Given the description of an element on the screen output the (x, y) to click on. 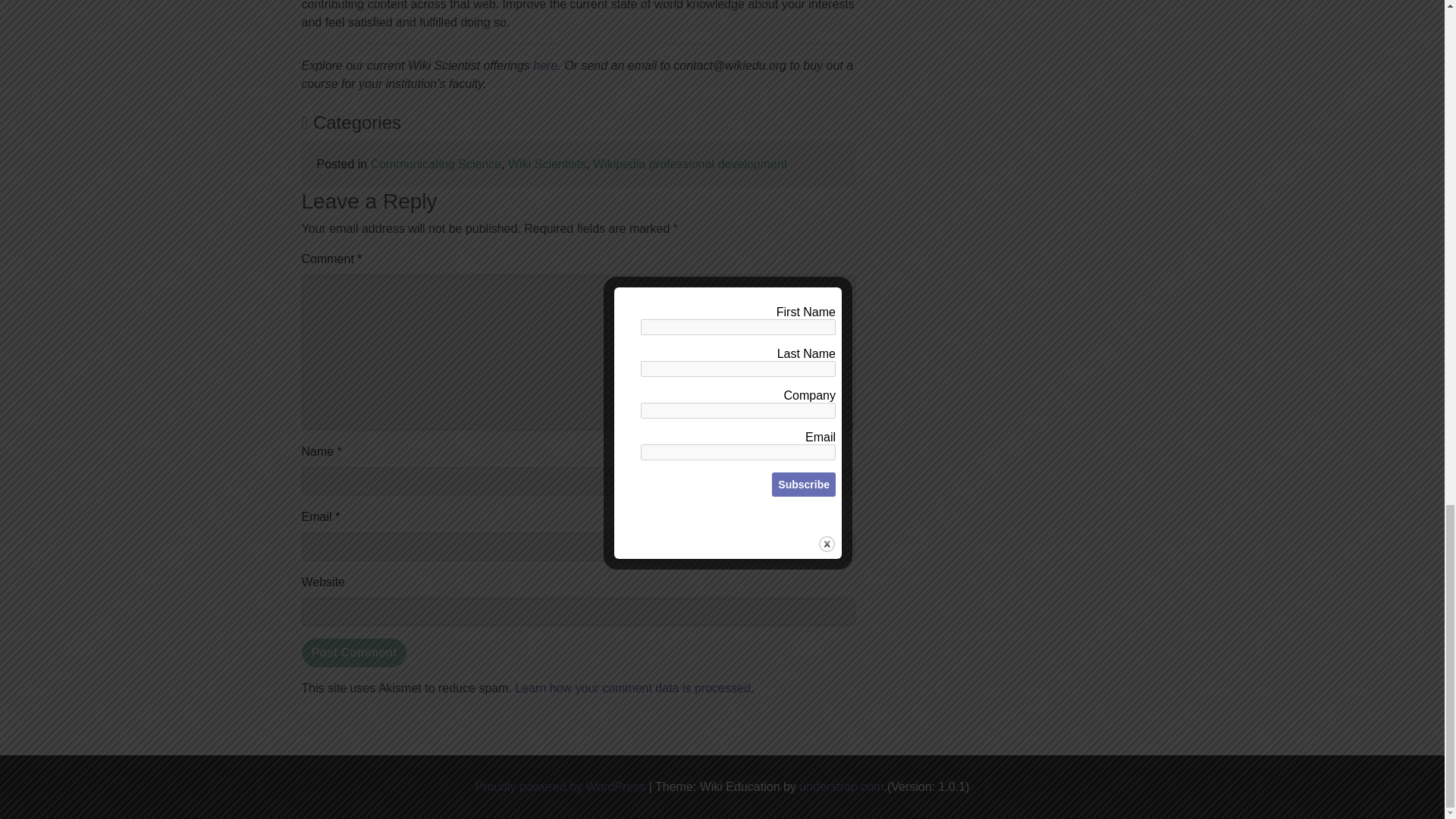
Communicating Science (436, 164)
Post Comment (354, 652)
Wikipedia professional development (689, 164)
Wiki Scientists (547, 164)
here (544, 65)
